Given the description of an element on the screen output the (x, y) to click on. 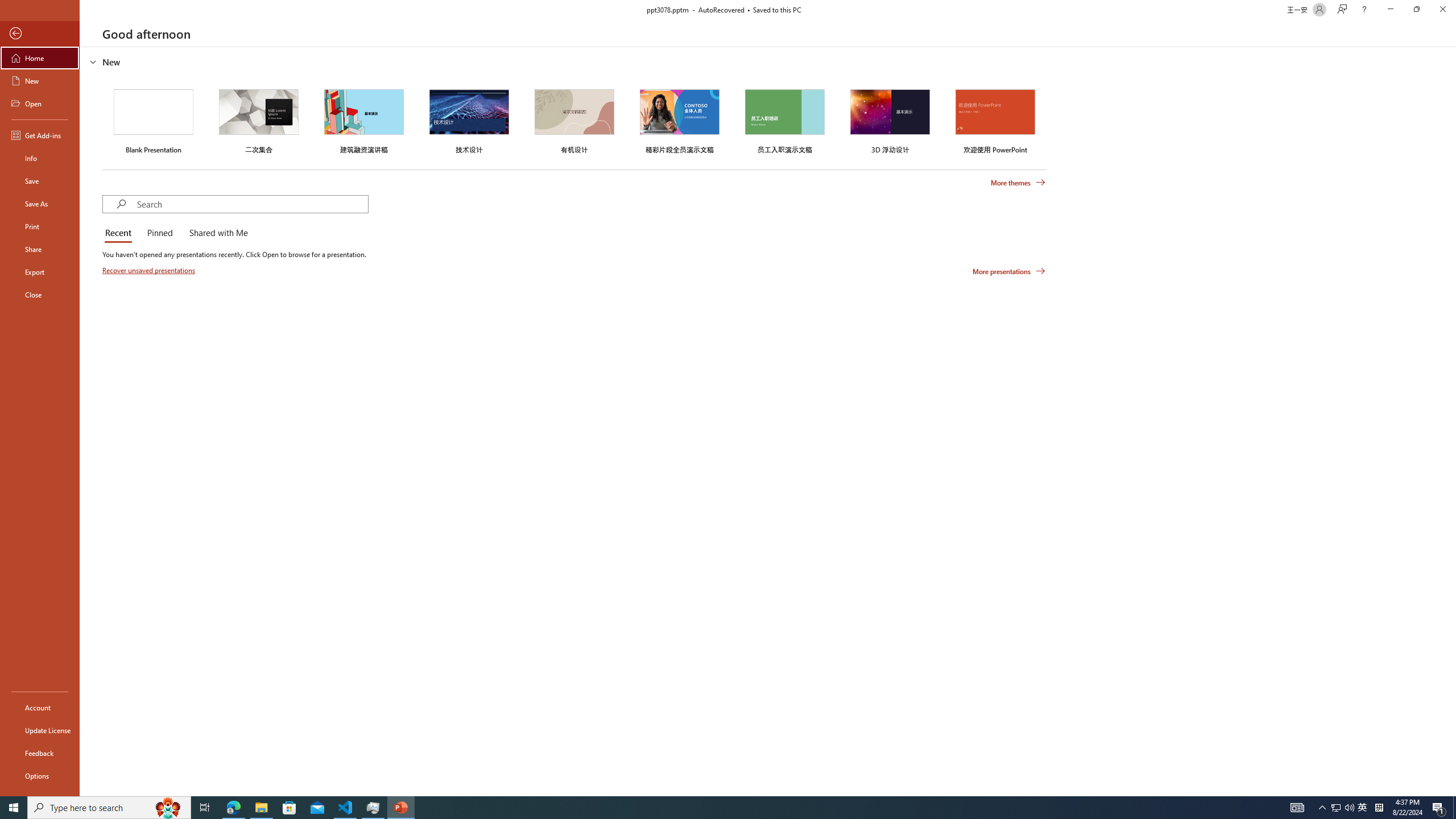
Update License (40, 730)
Options (40, 775)
Recover unsaved presentations (149, 270)
More presentations (1008, 270)
Shared with Me (215, 233)
